Given the description of an element on the screen output the (x, y) to click on. 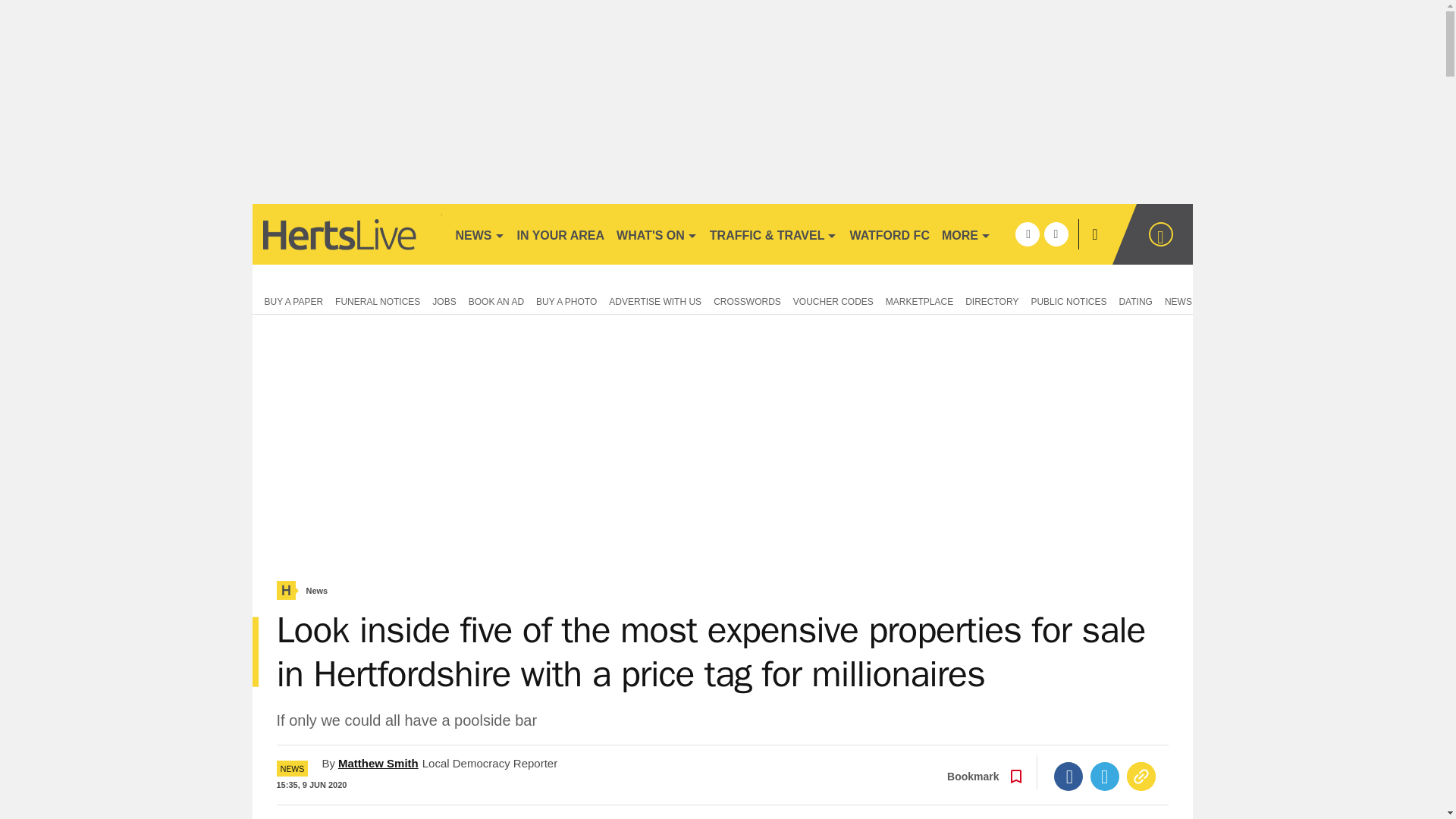
Twitter (1104, 776)
WHAT'S ON (656, 233)
twitter (1055, 233)
MORE (966, 233)
facebook (1026, 233)
IN YOUR AREA (561, 233)
WATFORD FC (888, 233)
NEWS (479, 233)
Facebook (1068, 776)
hertfordshiremercury (346, 233)
